Given the description of an element on the screen output the (x, y) to click on. 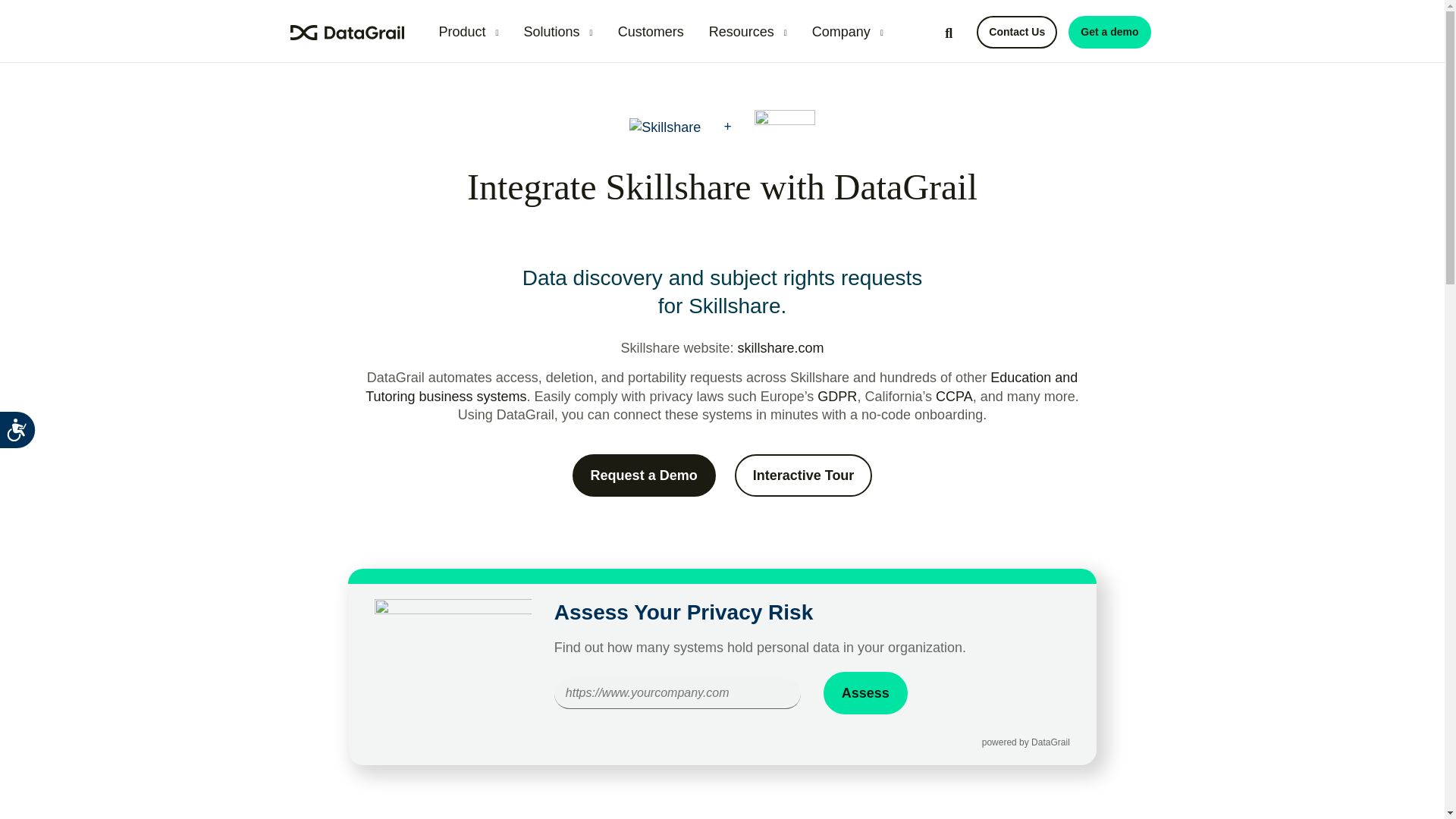
Get a demo (1109, 31)
Assess (865, 692)
Customers (650, 31)
Company (847, 31)
Accessibility (31, 443)
Product (467, 31)
Solutions (558, 31)
Contact Us (1016, 31)
Resources (748, 31)
